Given the description of an element on the screen output the (x, y) to click on. 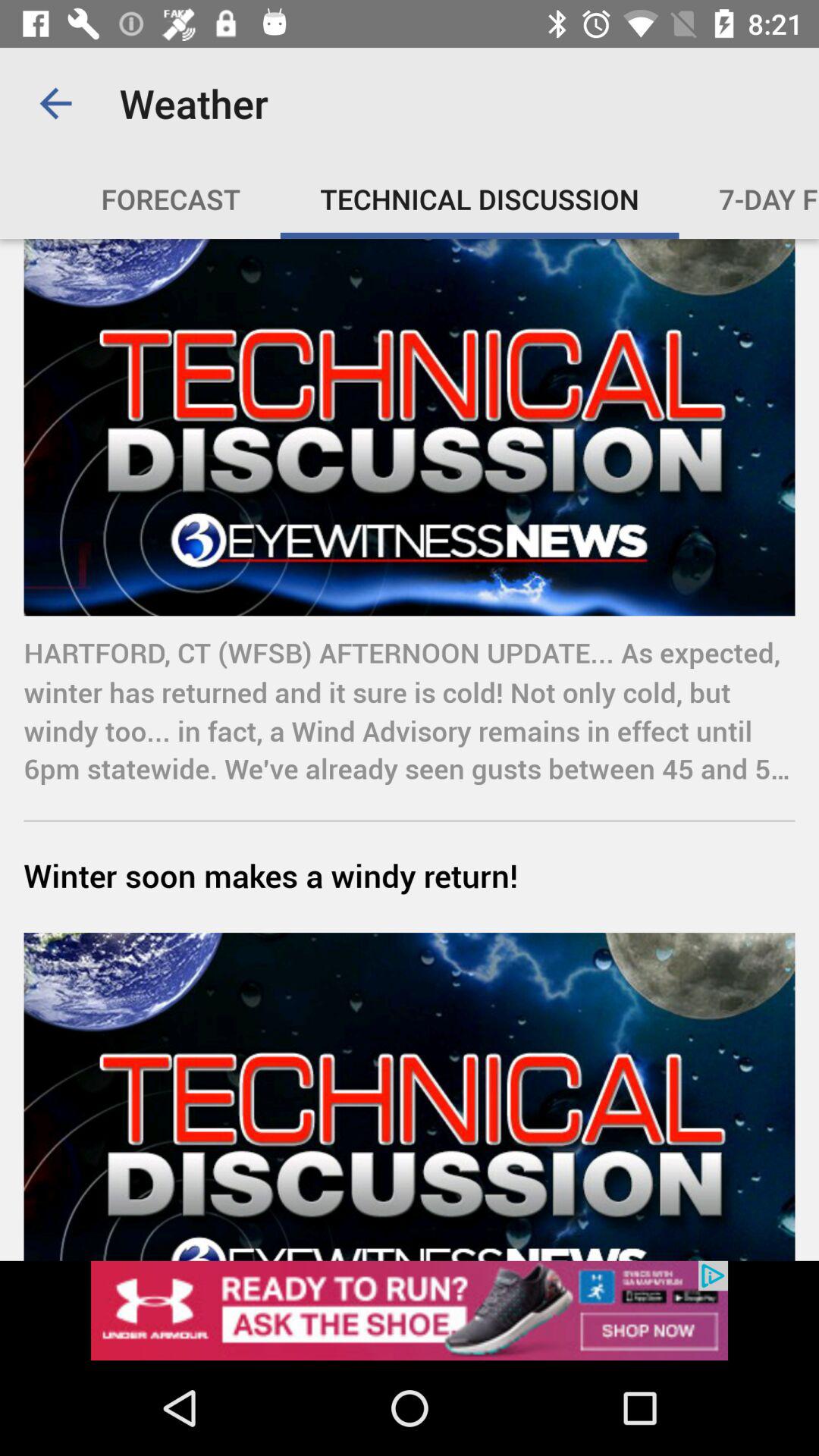
follow the banner (409, 1310)
